Given the description of an element on the screen output the (x, y) to click on. 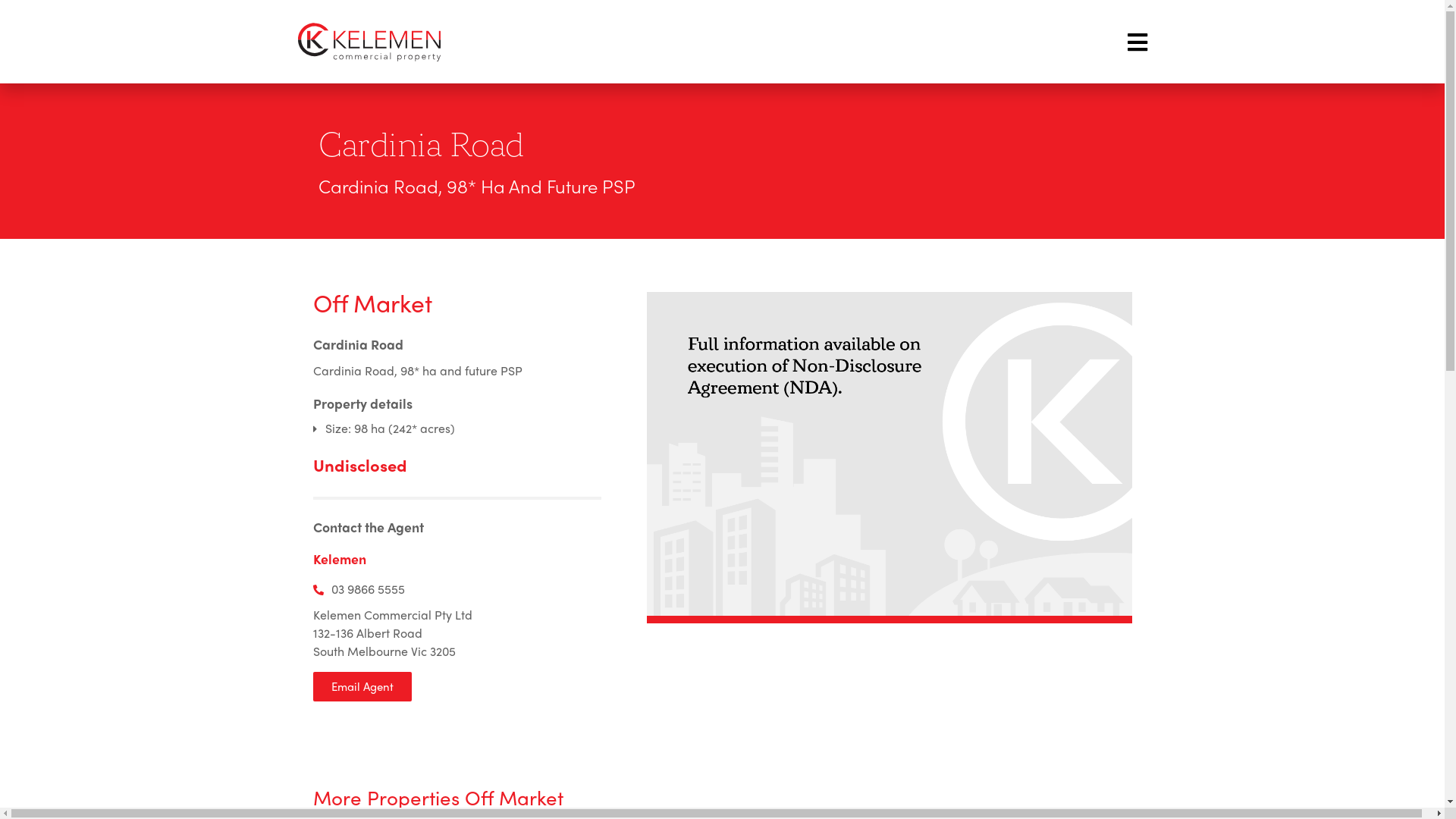
Sign Up Element type: text (611, 568)
Email Agent Element type: text (361, 686)
Off Market Element type: text (371, 302)
